Given the description of an element on the screen output the (x, y) to click on. 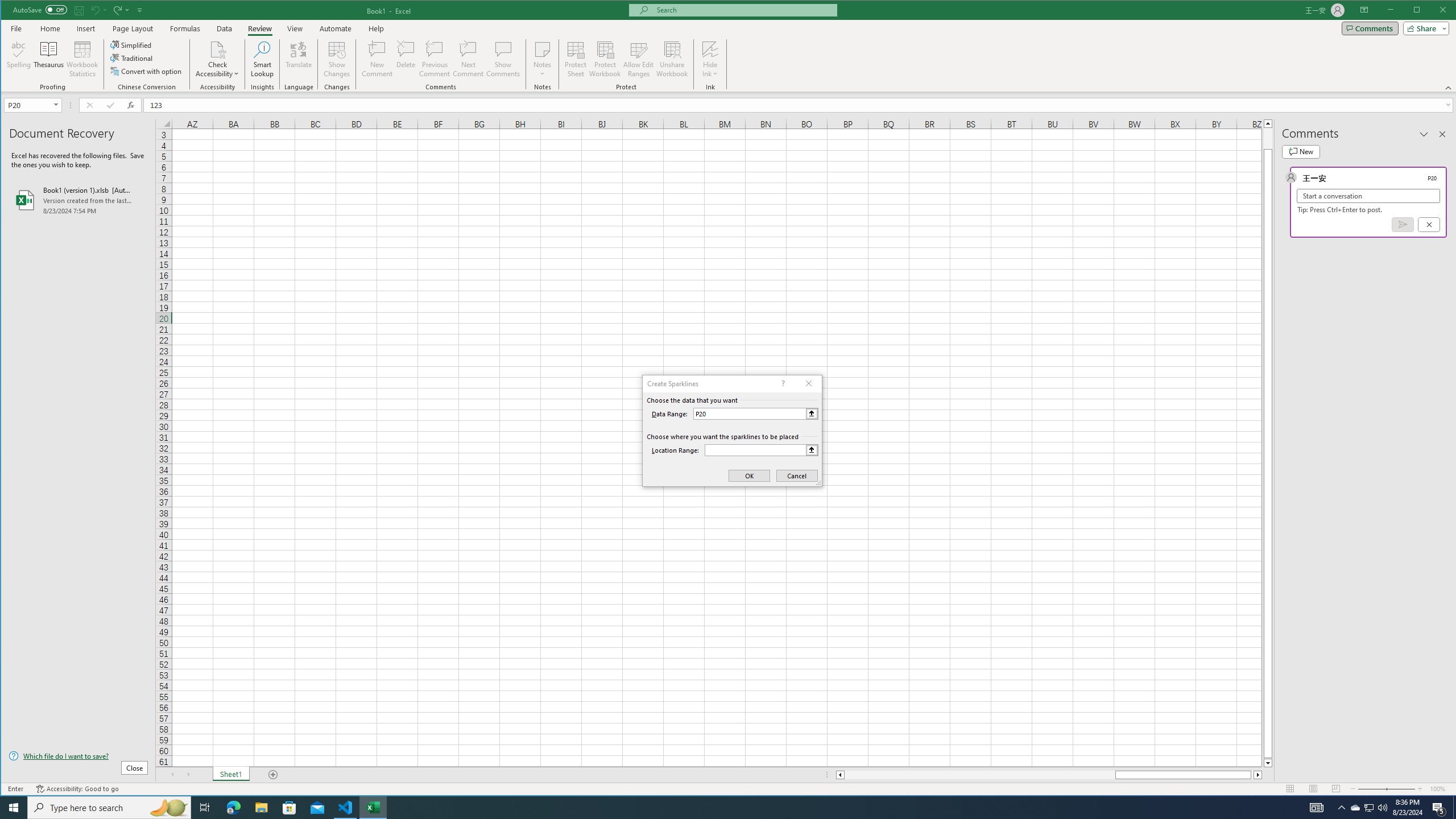
Previous Comment (434, 59)
Protect Workbook... (604, 59)
Hide Ink (710, 48)
Traditional (132, 57)
Maximize (1432, 11)
Convert with option (146, 70)
Check Accessibility (217, 59)
